Given the description of an element on the screen output the (x, y) to click on. 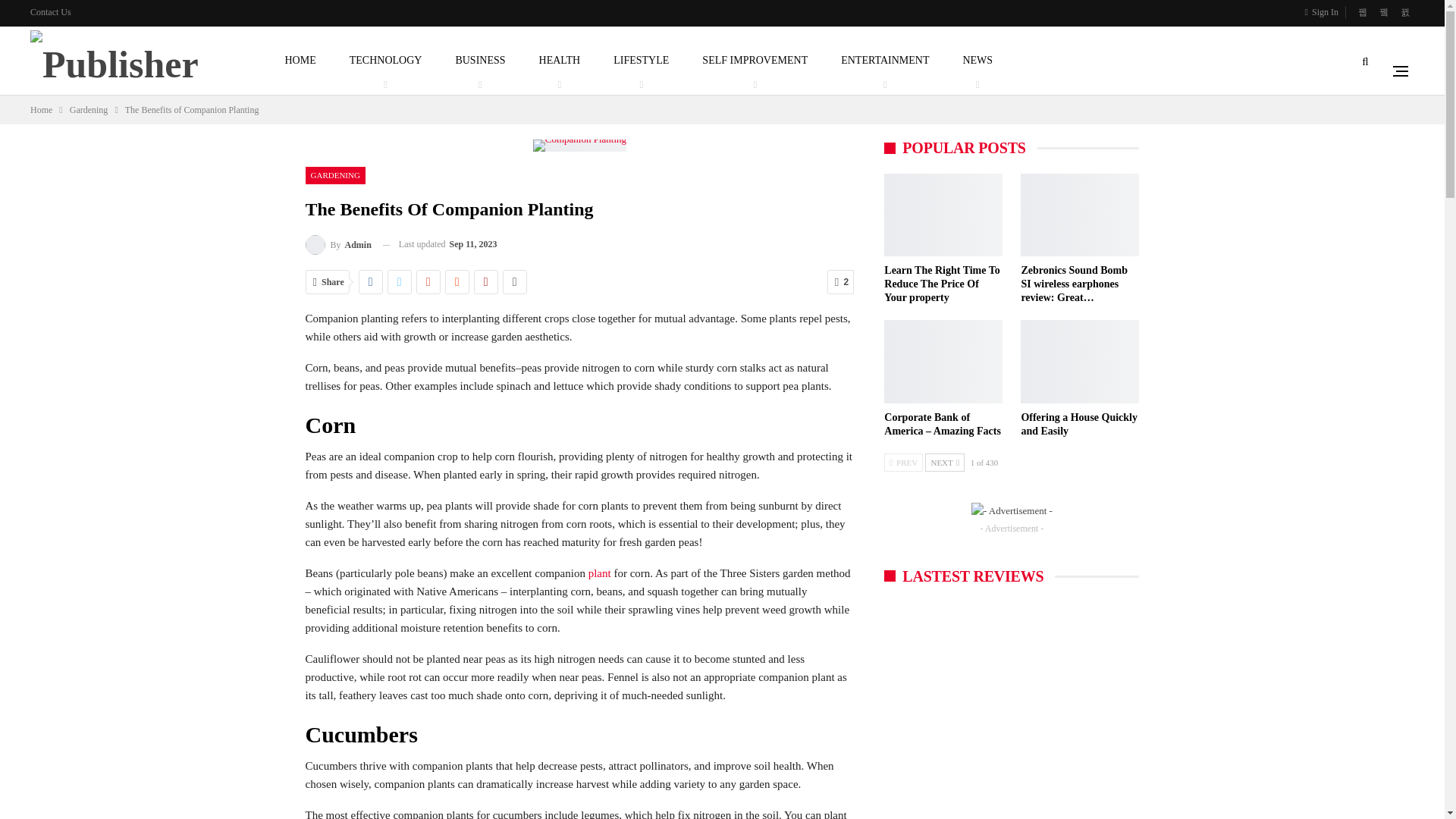
LIFESTYLE (641, 60)
Learn The Right Time To Reduce The Price Of Your property (940, 283)
Browse Author Articles (337, 244)
Learn The Right Time To Reduce The Price Of Your property (943, 214)
BUSINESS (480, 60)
Sign In (1323, 12)
Contact Us (50, 11)
TECHNOLOGY (385, 60)
SELF IMPROVEMENT (754, 60)
